Given the description of an element on the screen output the (x, y) to click on. 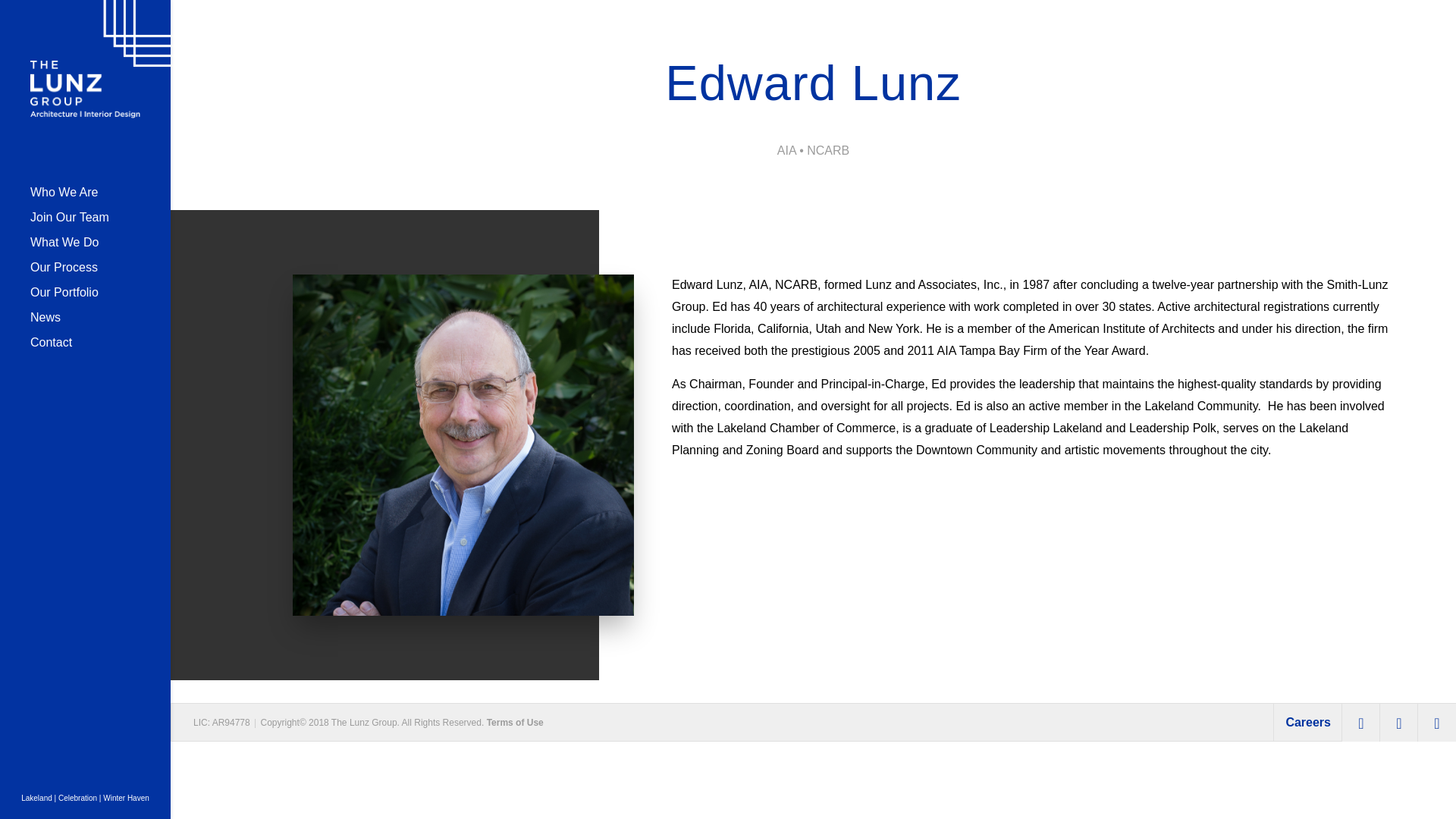
What We Do (100, 249)
Join Our Team (100, 224)
Contact (100, 349)
Ed-square (462, 444)
Terms of Use (514, 722)
Who We Are (100, 199)
Our Portfolio (100, 299)
Our Process (100, 274)
News (100, 324)
